Given the description of an element on the screen output the (x, y) to click on. 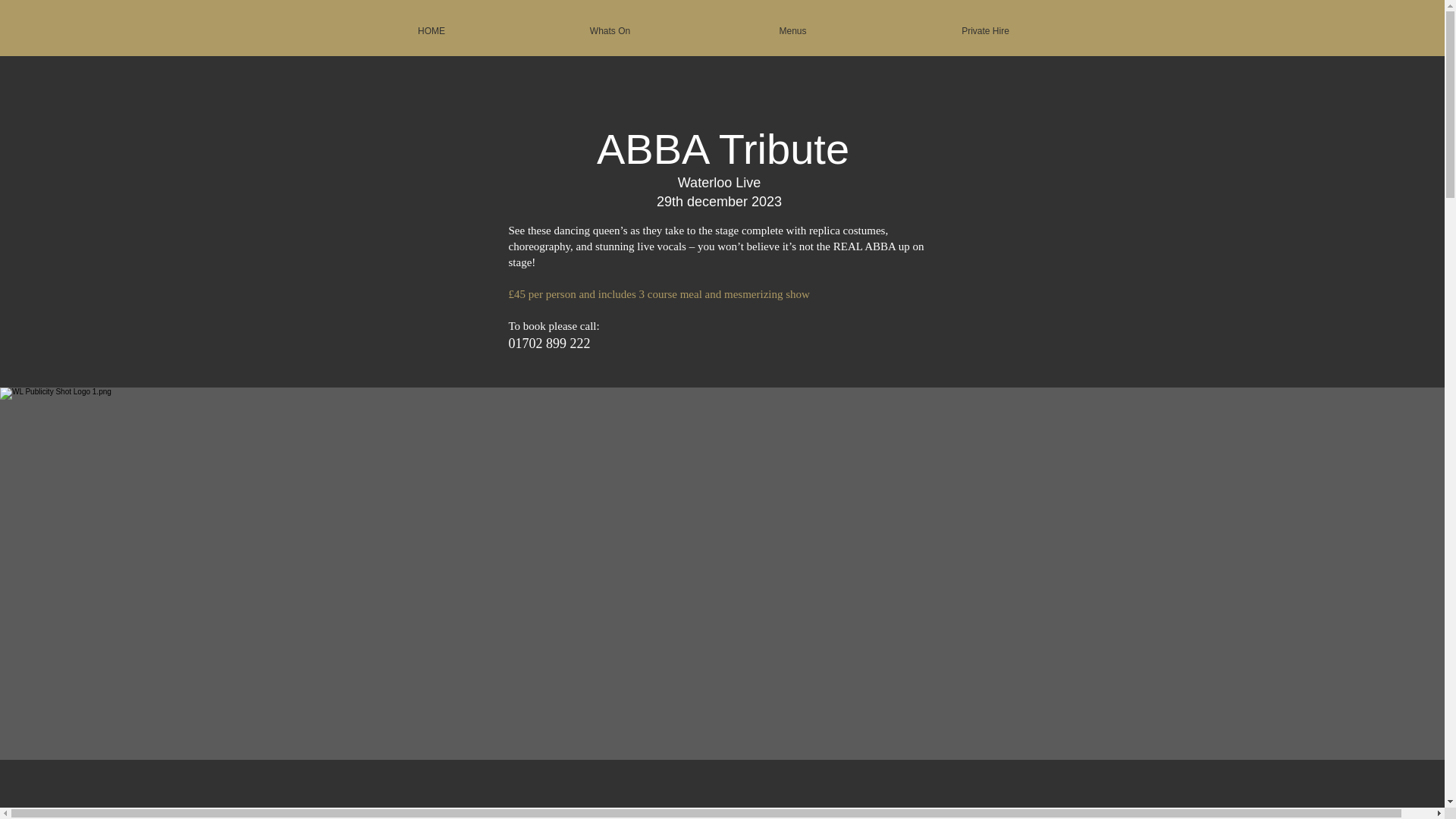
Private Hire (985, 30)
Menus (792, 30)
HOME (431, 30)
Whats On (609, 30)
